Given the description of an element on the screen output the (x, y) to click on. 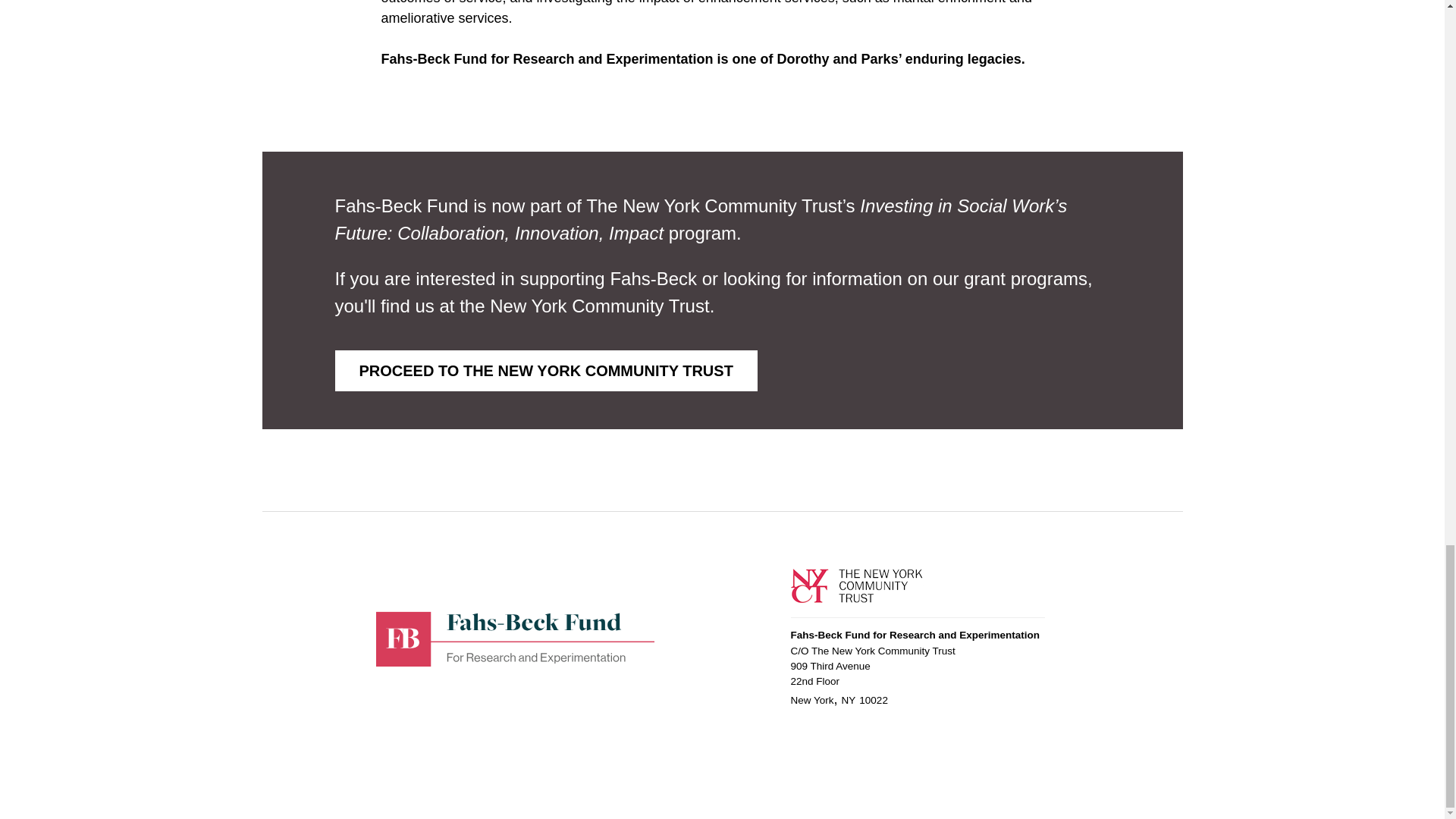
PROCEED TO THE NEW YORK COMMUNITY TRUST (545, 370)
